Given the description of an element on the screen output the (x, y) to click on. 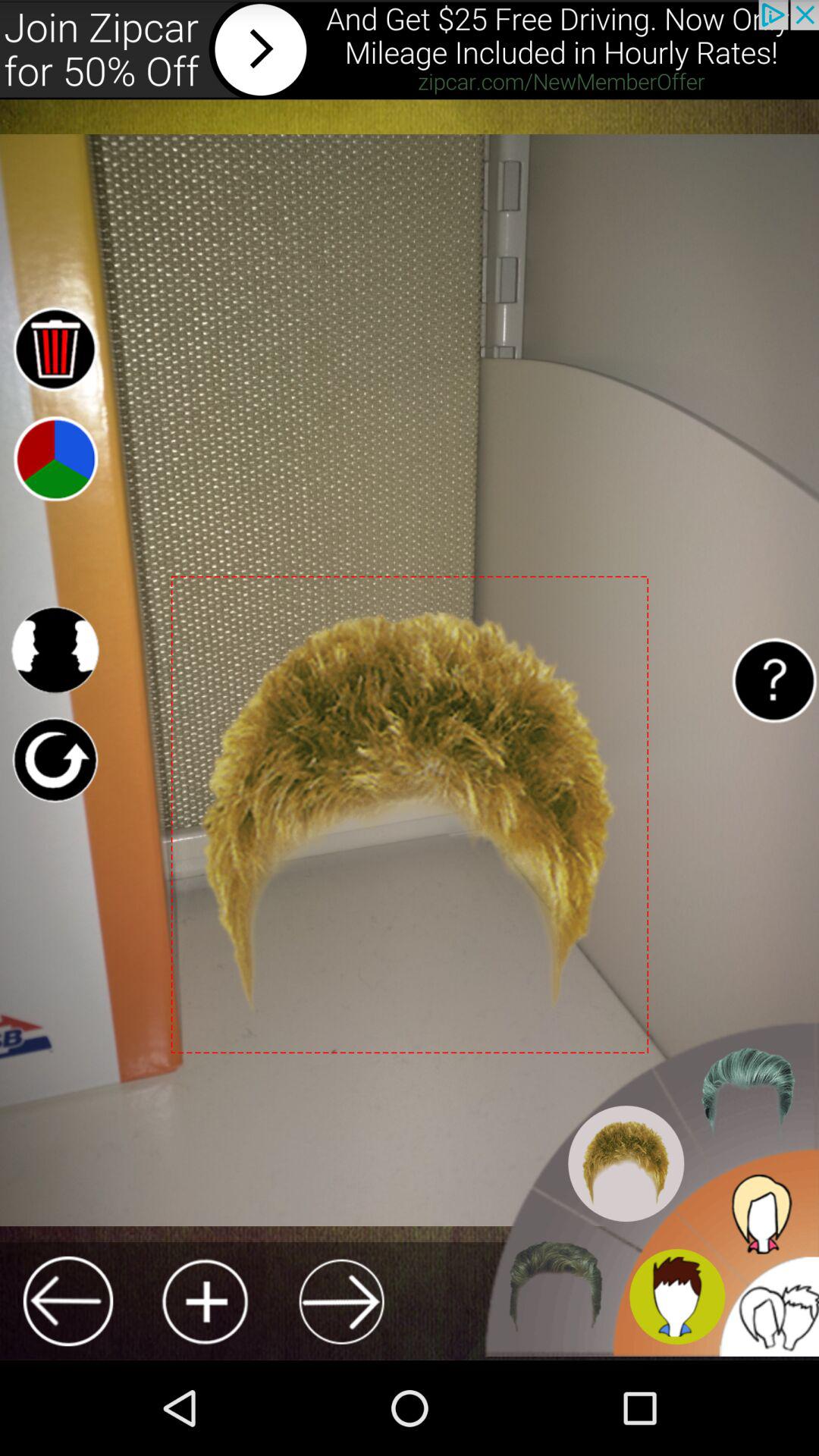
open help page (774, 680)
